Given the description of an element on the screen output the (x, y) to click on. 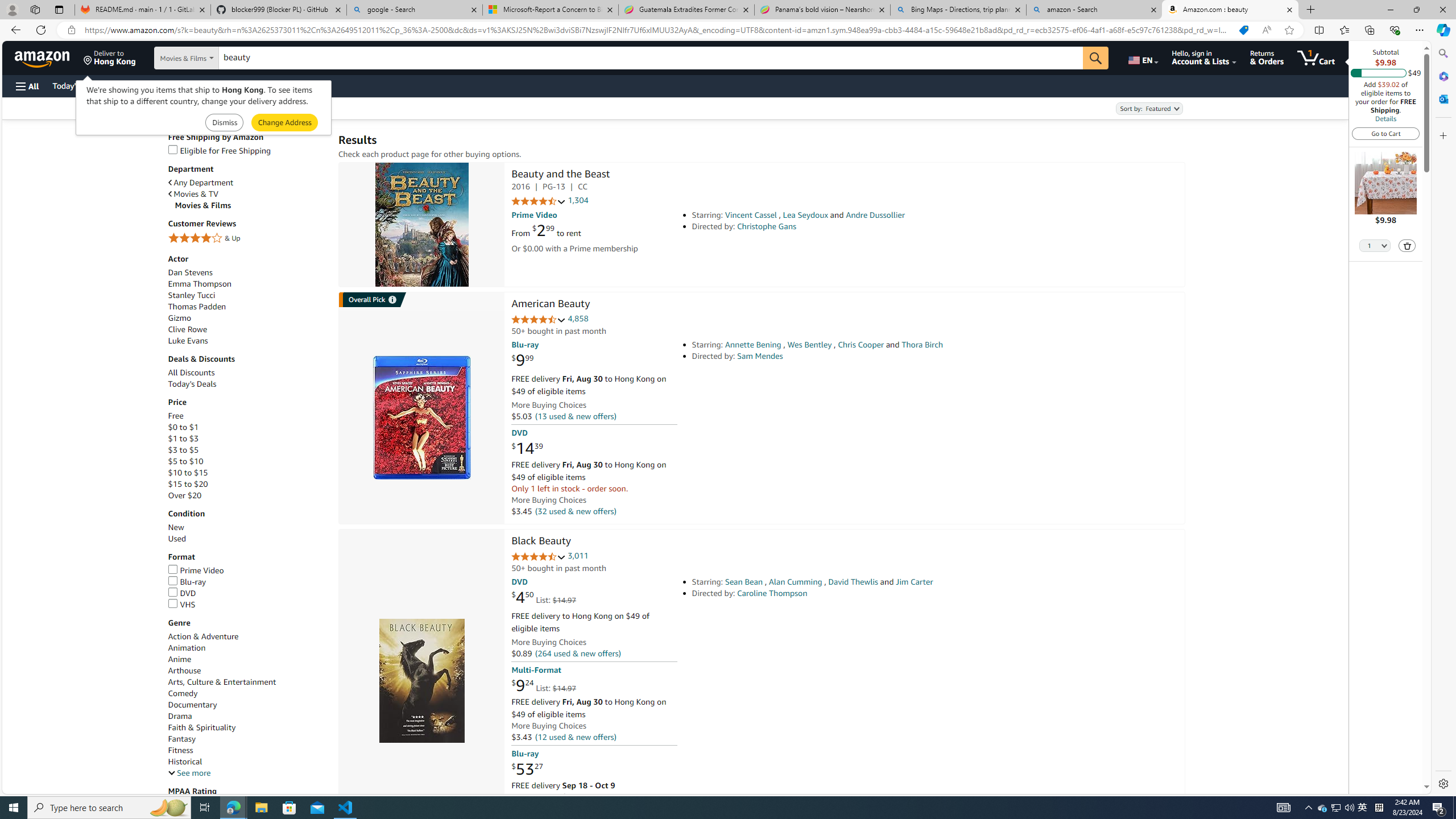
Sam Mendes (759, 355)
Eligible for Free Shipping (247, 150)
Hello, sign in Account & Lists (1203, 57)
Fantasy (181, 738)
$0 to $1 (183, 426)
See more, Genre (189, 773)
Thora Birch (922, 344)
Free (175, 415)
Blu-ray (247, 582)
$5 to $10 (247, 461)
Wes Bentley (809, 344)
Movies & Films (250, 205)
